Given the description of an element on the screen output the (x, y) to click on. 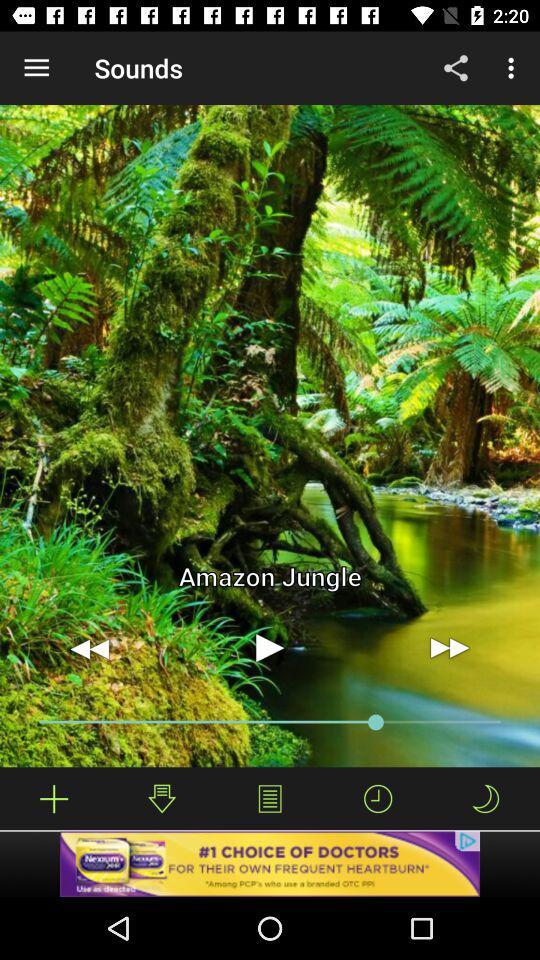
toggle sleep-mode (485, 798)
